Given the description of an element on the screen output the (x, y) to click on. 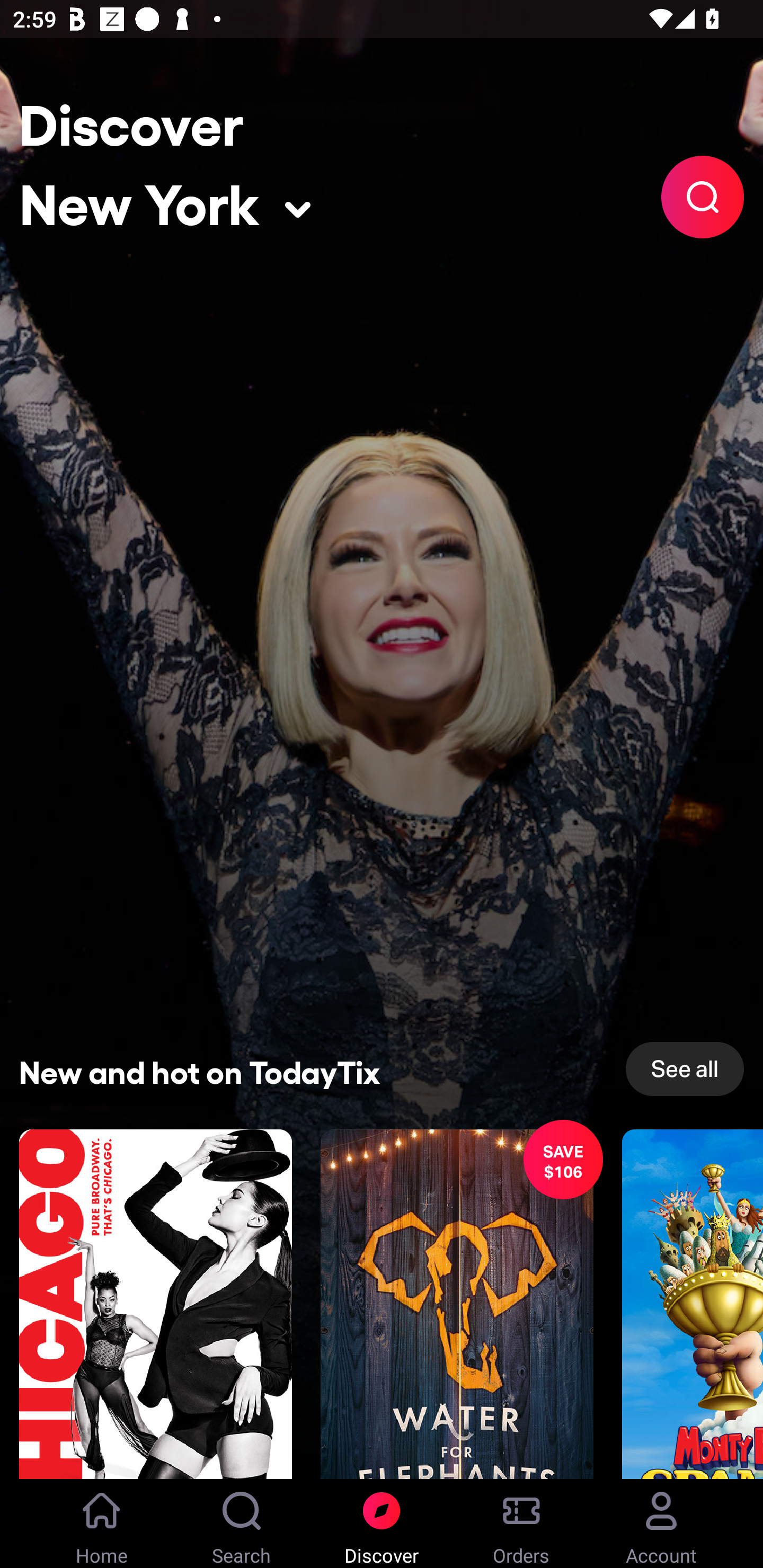
Discover Discover New York (131, 118)
Search (702, 196)
change location New York (165, 198)
Home (101, 1523)
Search (241, 1523)
Orders (521, 1523)
Account (660, 1523)
